Given the description of an element on the screen output the (x, y) to click on. 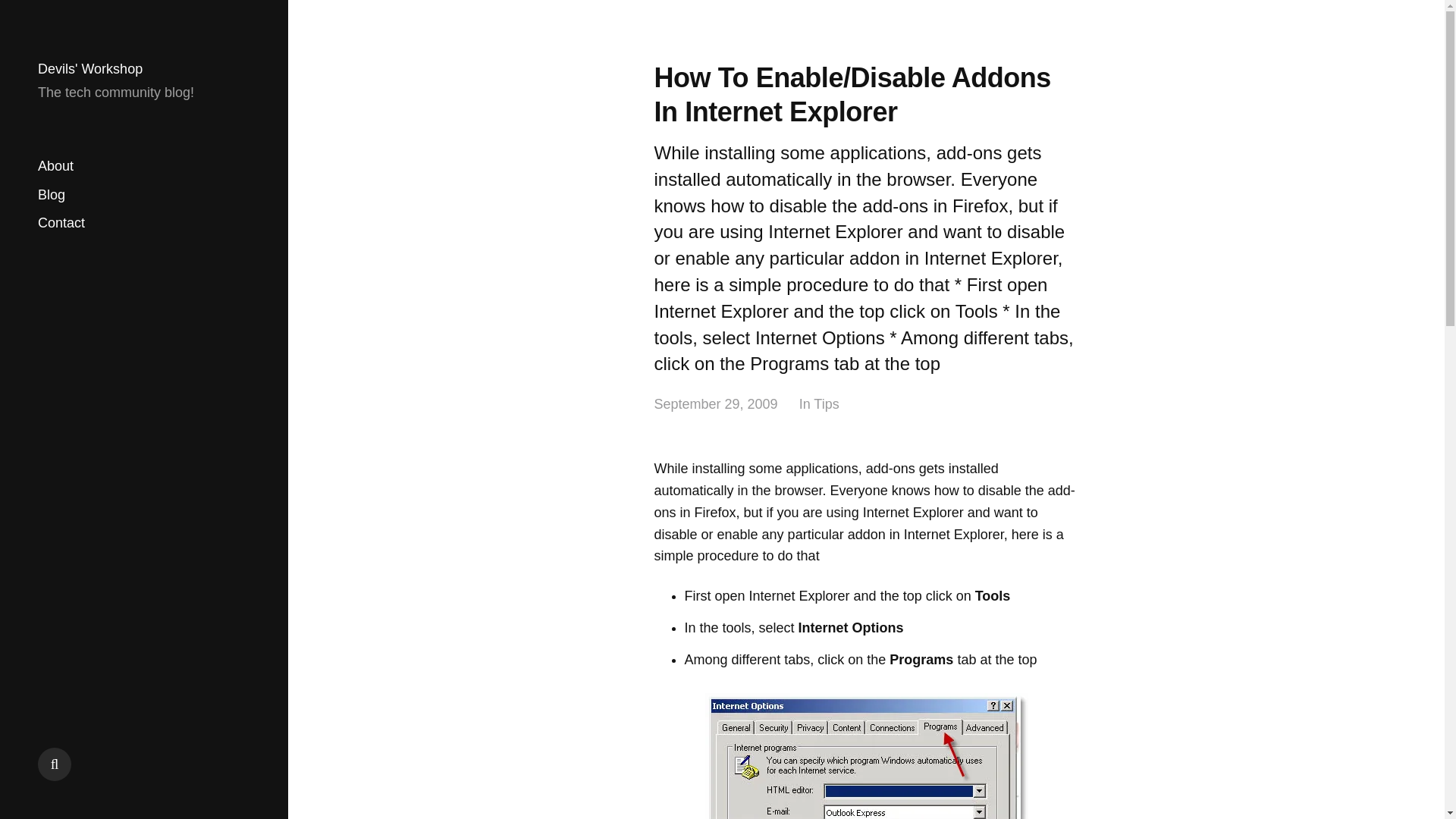
Devils' Workshop (89, 68)
Contact (60, 222)
Blog (51, 194)
September 29, 2009 (715, 404)
About (55, 166)
Tips (825, 404)
